Given the description of an element on the screen output the (x, y) to click on. 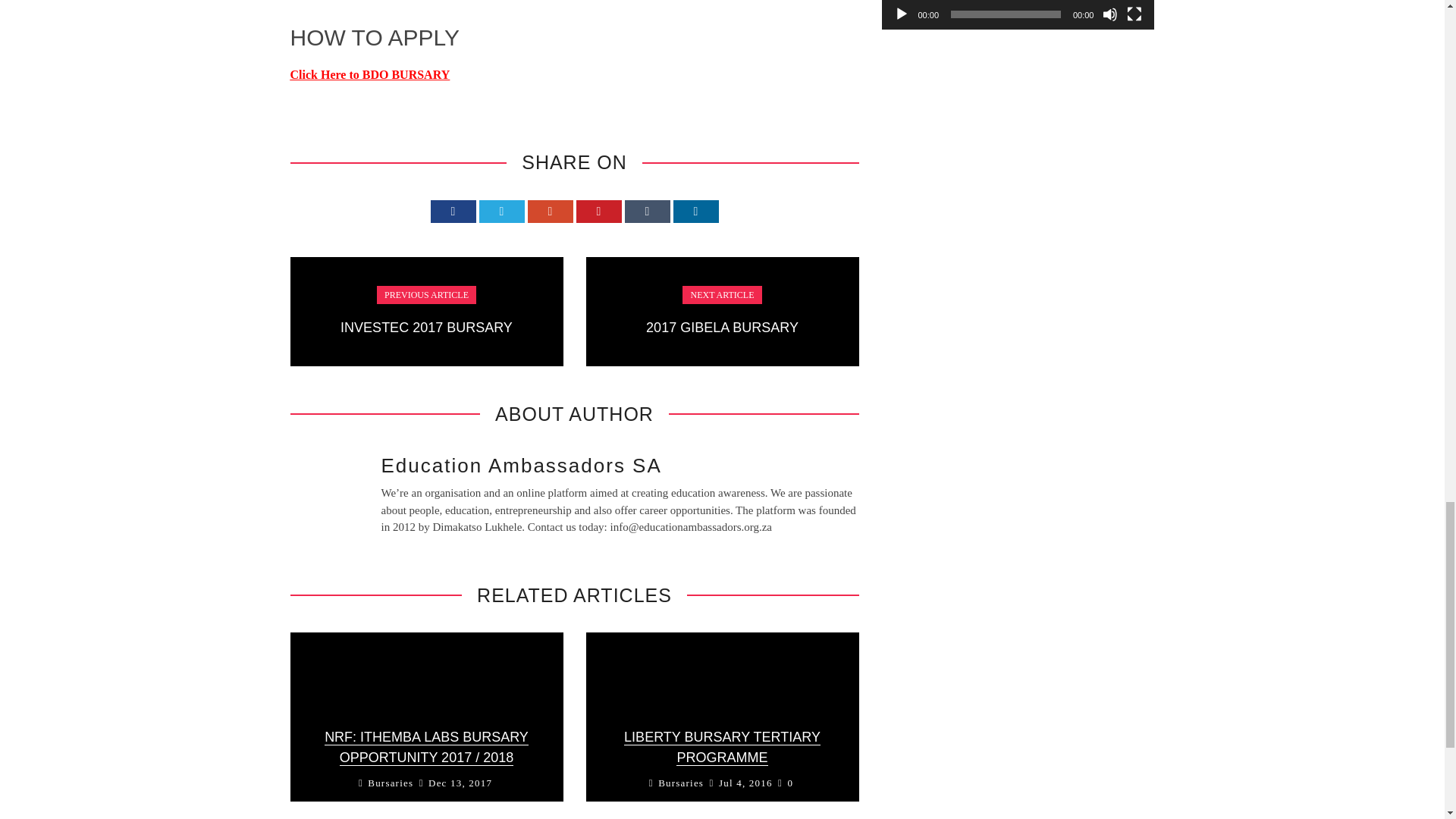
Play (900, 14)
Mute (1110, 14)
Facebook (453, 210)
Linkedin (696, 210)
Twitter (501, 210)
Google Plus (550, 210)
Pinterest (598, 210)
Tumblr (647, 210)
